Given the description of an element on the screen output the (x, y) to click on. 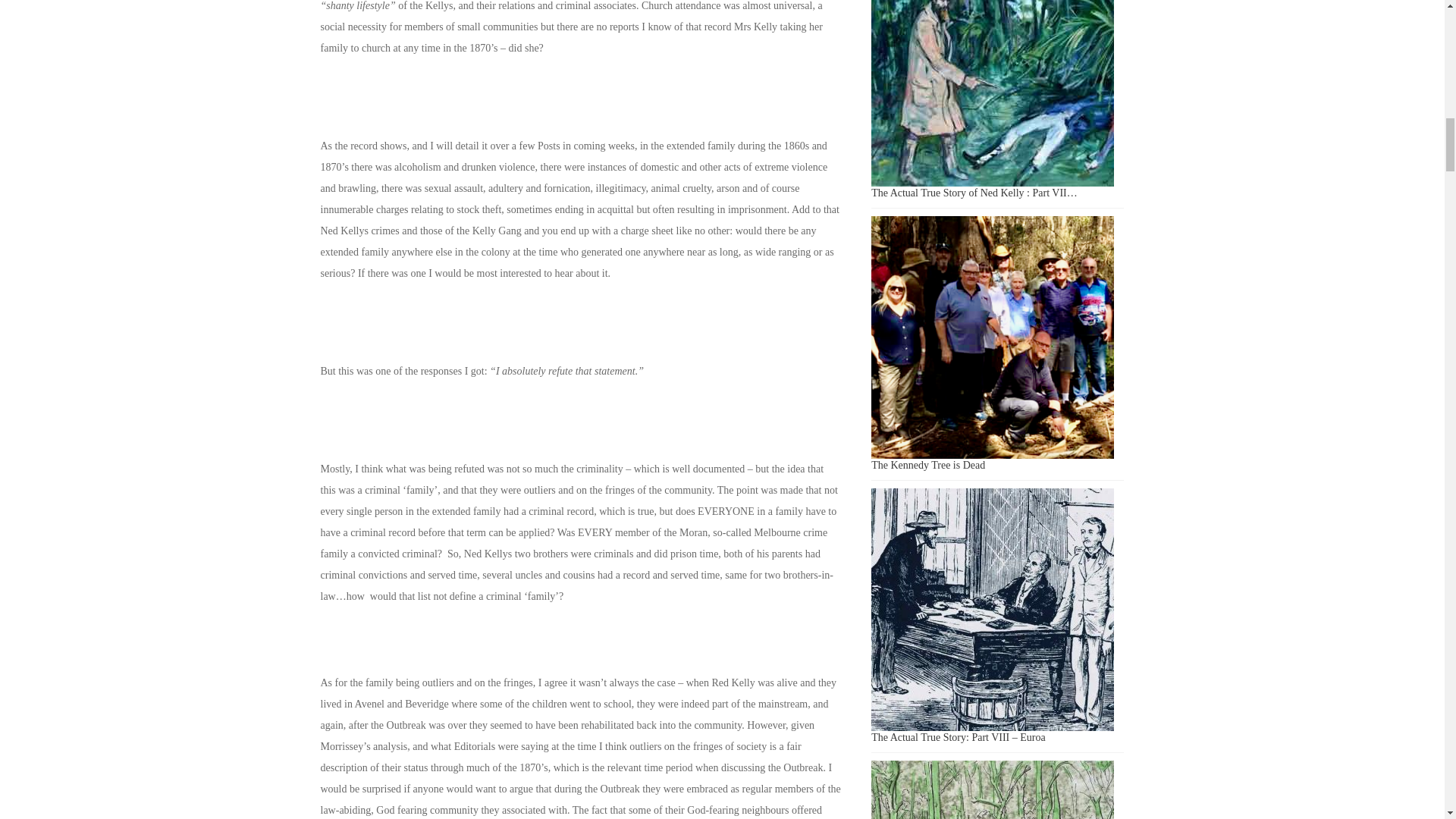
Who should we believe : the KTG or an Eyewitness? (991, 789)
The Kennedy Tree is Dead (991, 337)
The Actual True Story: Part VIII - Euroa (991, 609)
